Given the description of an element on the screen output the (x, y) to click on. 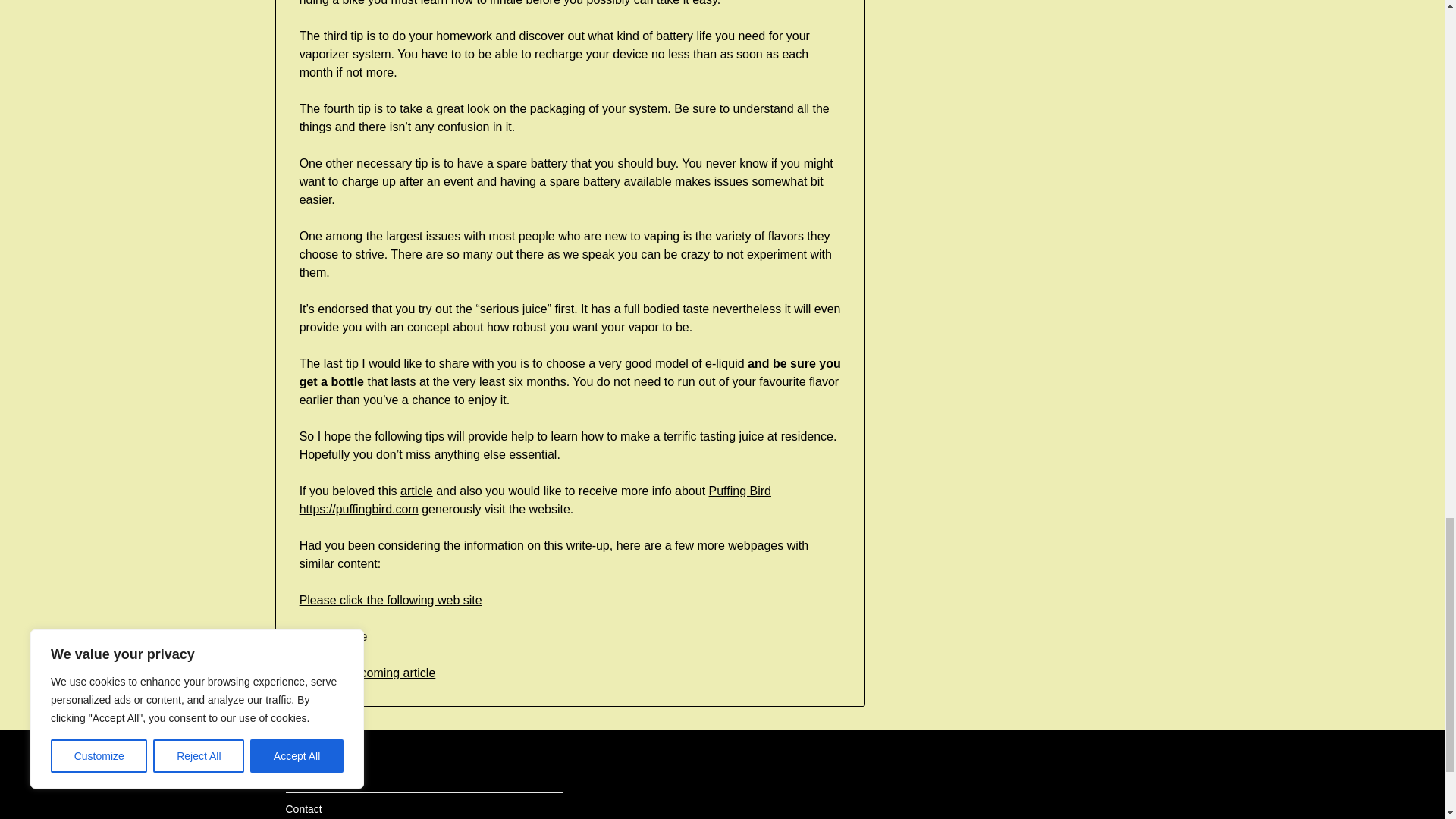
click this site (333, 635)
article (416, 490)
e-liquid (724, 363)
visit the up coming article (367, 672)
Please click the following web site (390, 599)
